Given the description of an element on the screen output the (x, y) to click on. 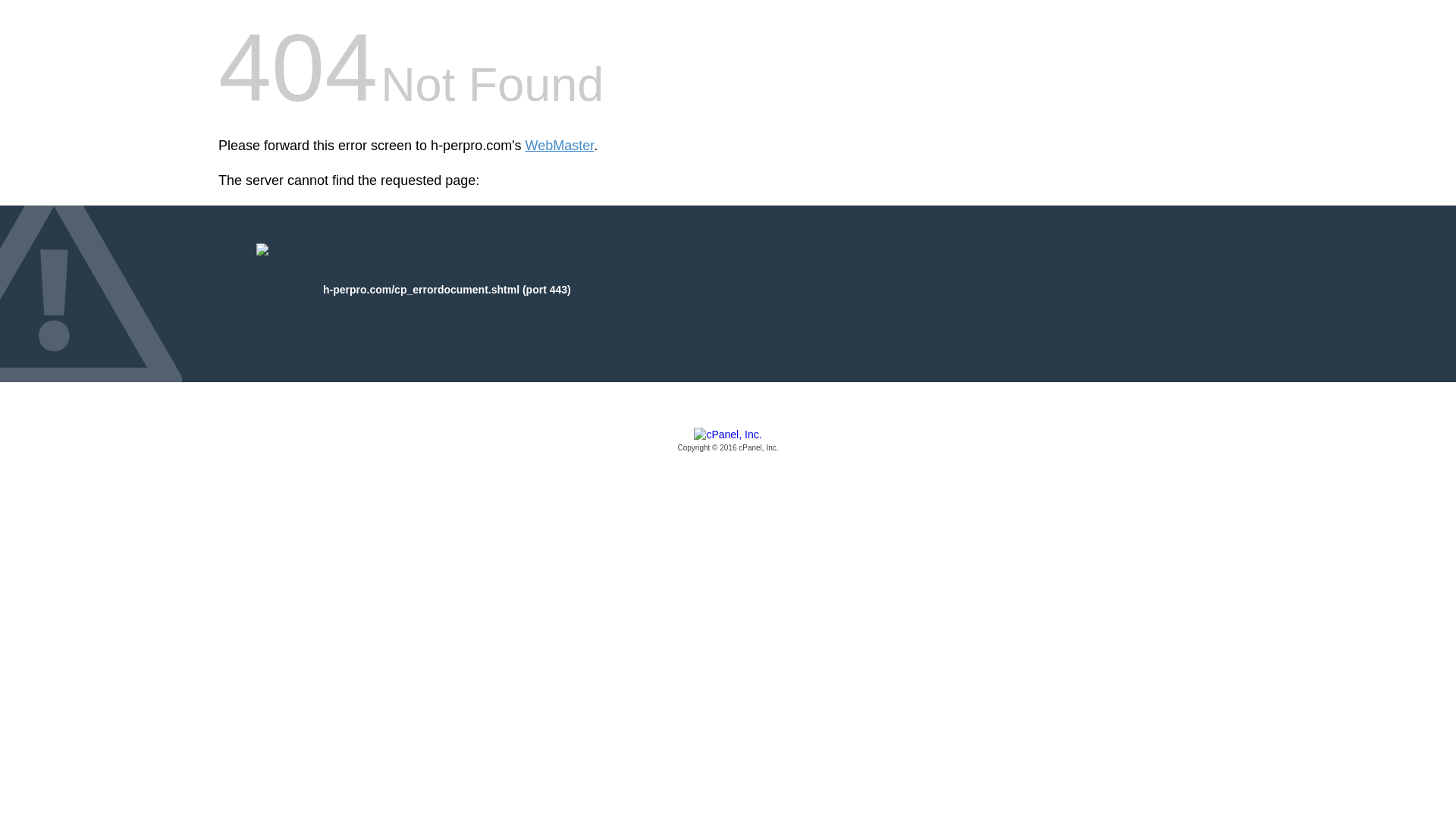
WebMaster (559, 145)
cPanel, Inc. (727, 440)
